Given the description of an element on the screen output the (x, y) to click on. 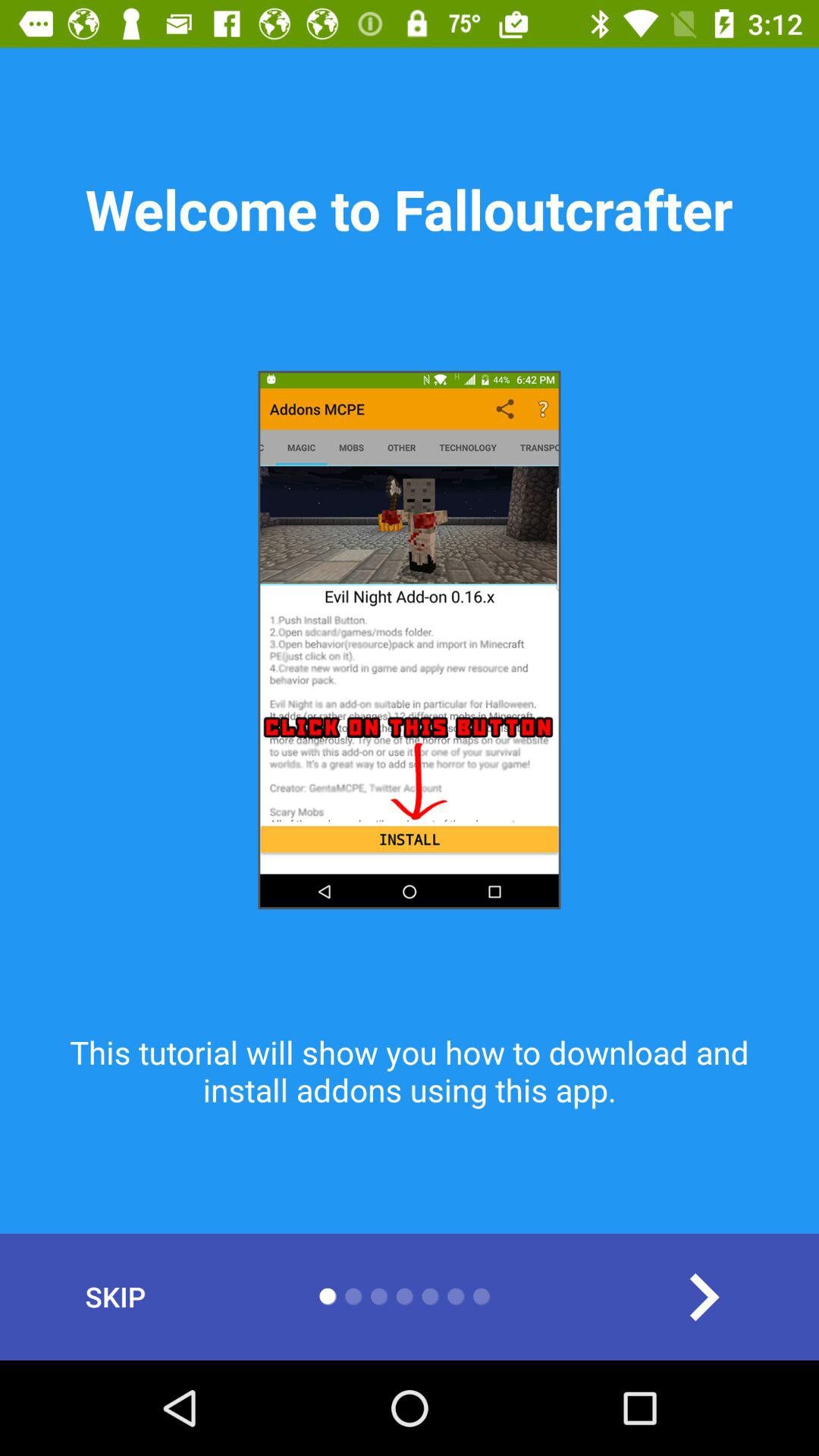
press the icon at the bottom right corner (703, 1296)
